Given the description of an element on the screen output the (x, y) to click on. 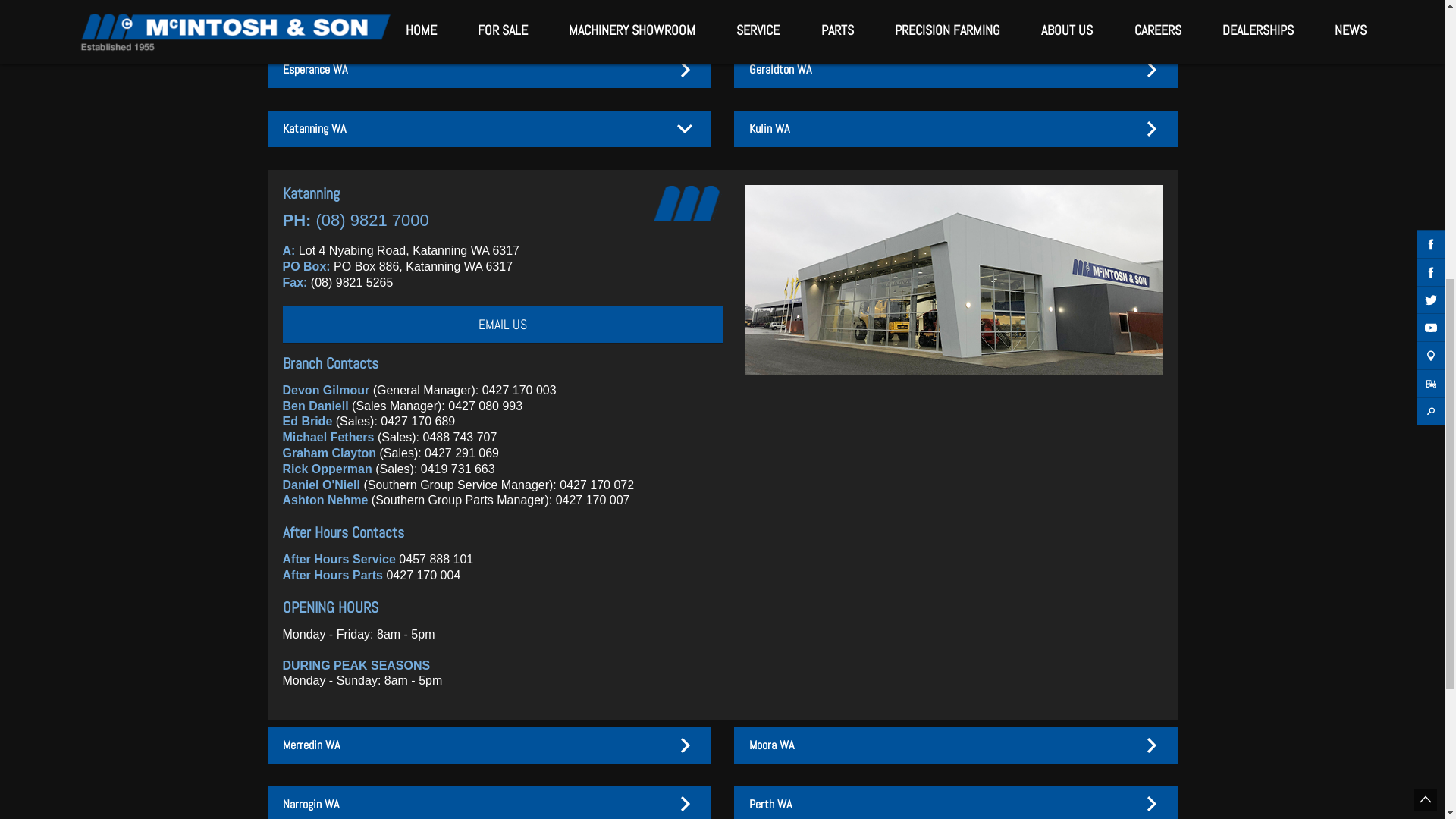
ABOUT US Element type: text (1066, 566)
8 Element type: text (759, 367)
MACHINERY SHOWROOM Element type: text (631, 566)
PARTS Element type: text (837, 566)
1 Element type: text (627, 367)
NEWS Element type: text (1347, 566)
2 Element type: text (646, 367)
11 Element type: text (816, 367)
4 Element type: text (684, 367)
DEALERSHIPS Element type: text (1257, 566)
3 Element type: text (665, 367)
9 Element type: text (778, 367)
HOME Element type: text (420, 566)
FOR SALE Element type: text (502, 566)
10 Element type: text (797, 367)
PRECISION FARMING Element type: text (947, 566)
(08) 9821 7000 Element type: text (372, 755)
CAREERS Element type: text (1157, 566)
5 Element type: text (703, 367)
7 Element type: text (740, 367)
SERVICE Element type: text (757, 566)
6 Element type: text (722, 367)
